Given the description of an element on the screen output the (x, y) to click on. 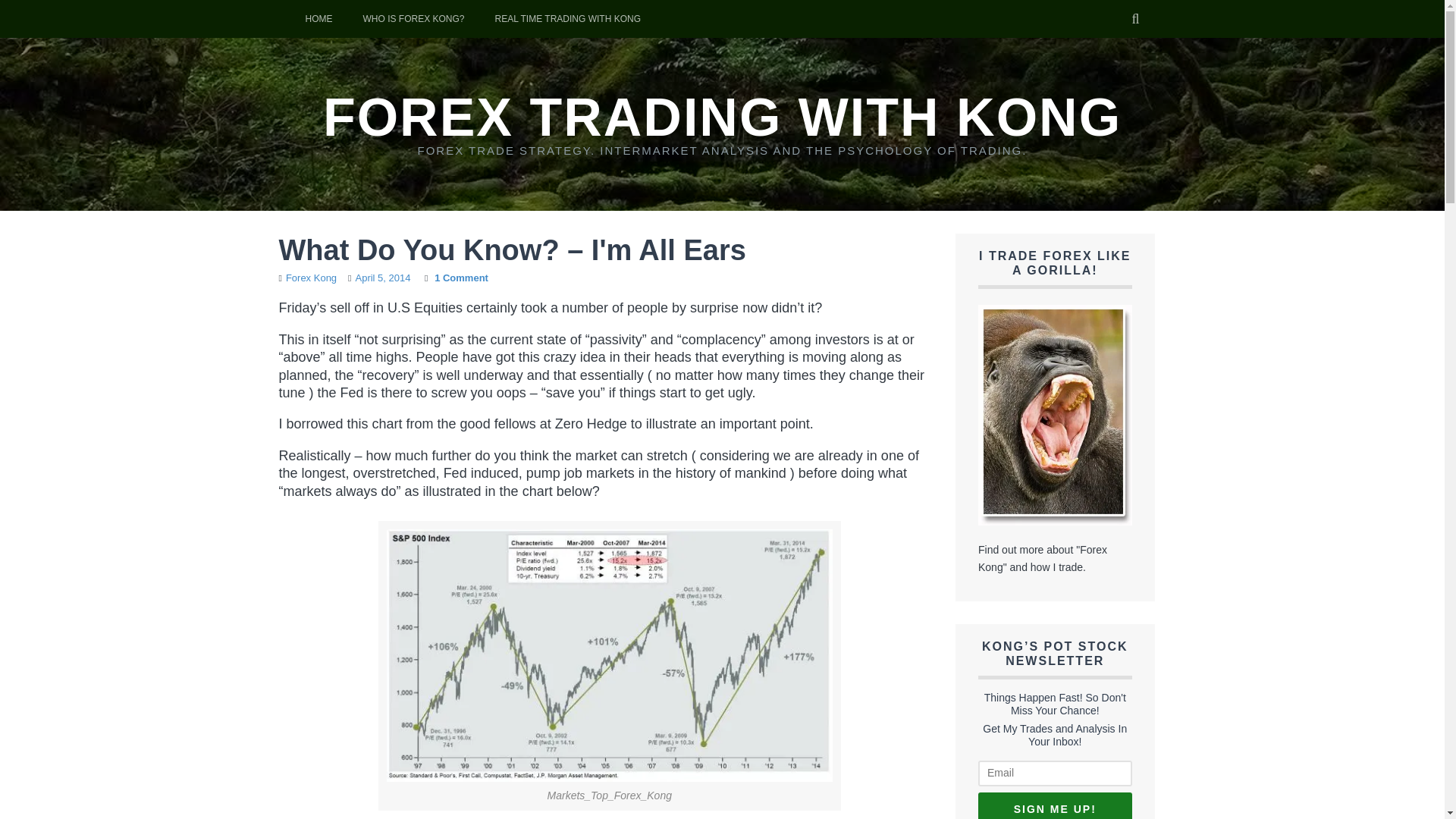
Forex Kong (310, 277)
1 Comment (460, 277)
April 5, 2014 (382, 277)
WHO IS FOREX KONG? (413, 18)
Sign Me Up! (1055, 805)
Sign Me Up! (1055, 805)
HOME (318, 18)
REAL TIME TRADING WITH KONG (568, 18)
FOREX TRADING WITH KONG (722, 117)
